Given the description of an element on the screen output the (x, y) to click on. 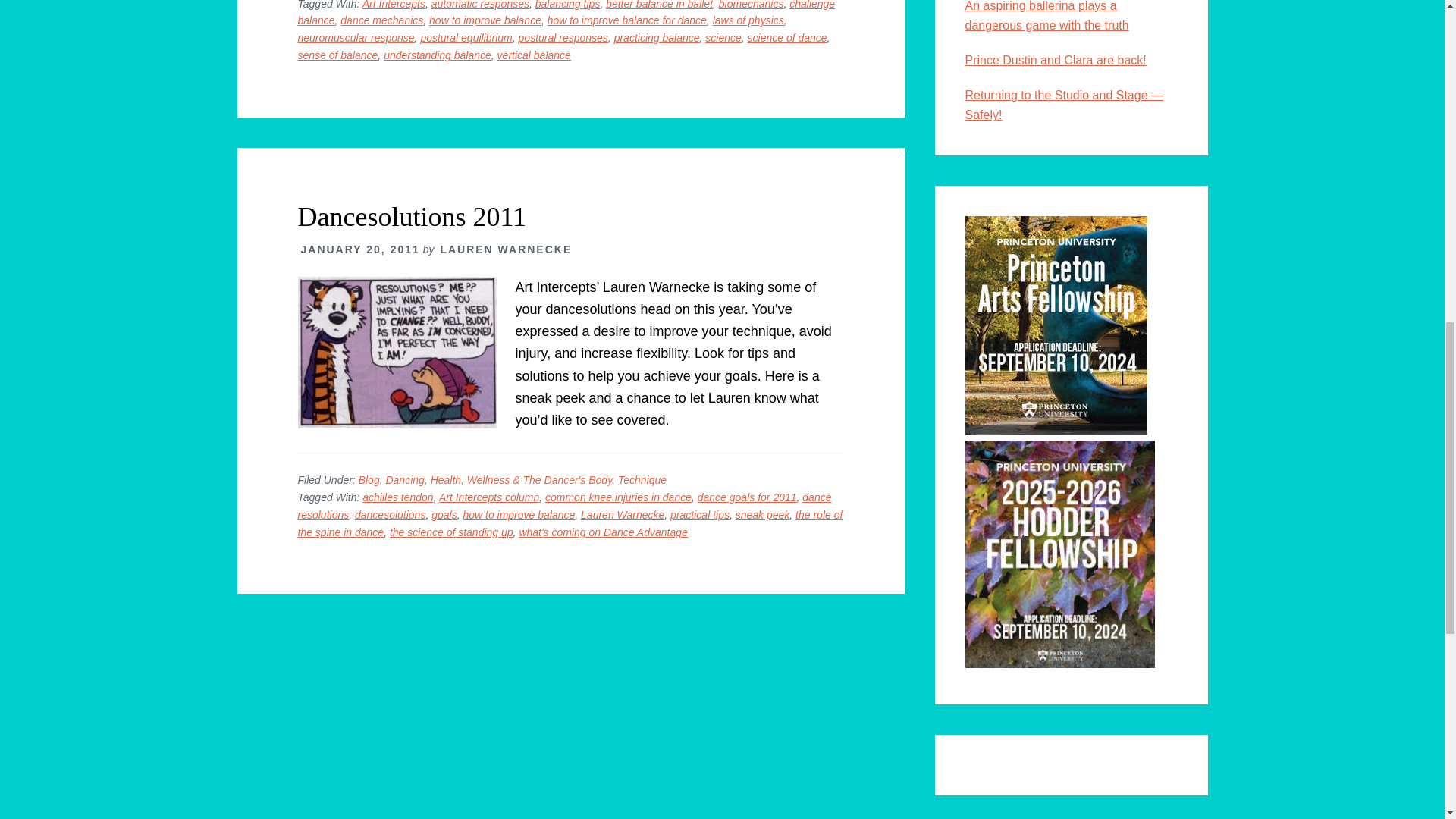
balancing tips (567, 4)
automatic responses (479, 4)
Art Intercepts (393, 4)
biomechanics (751, 4)
better balance in ballet (659, 4)
